Given the description of an element on the screen output the (x, y) to click on. 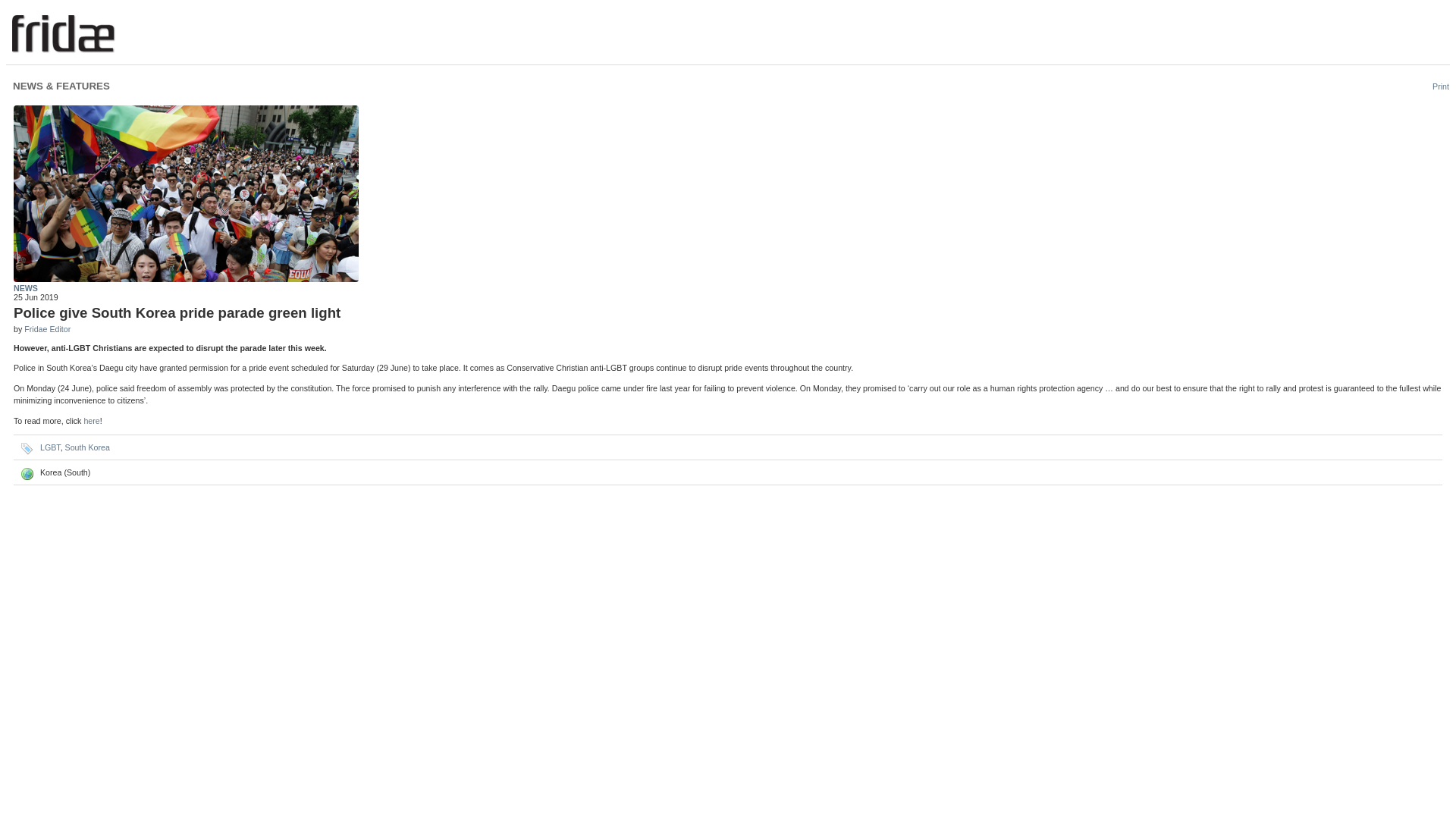
LGBT (50, 447)
here (90, 420)
NEWS (25, 287)
South Korea (87, 447)
Fridae Editor (46, 328)
